Given the description of an element on the screen output the (x, y) to click on. 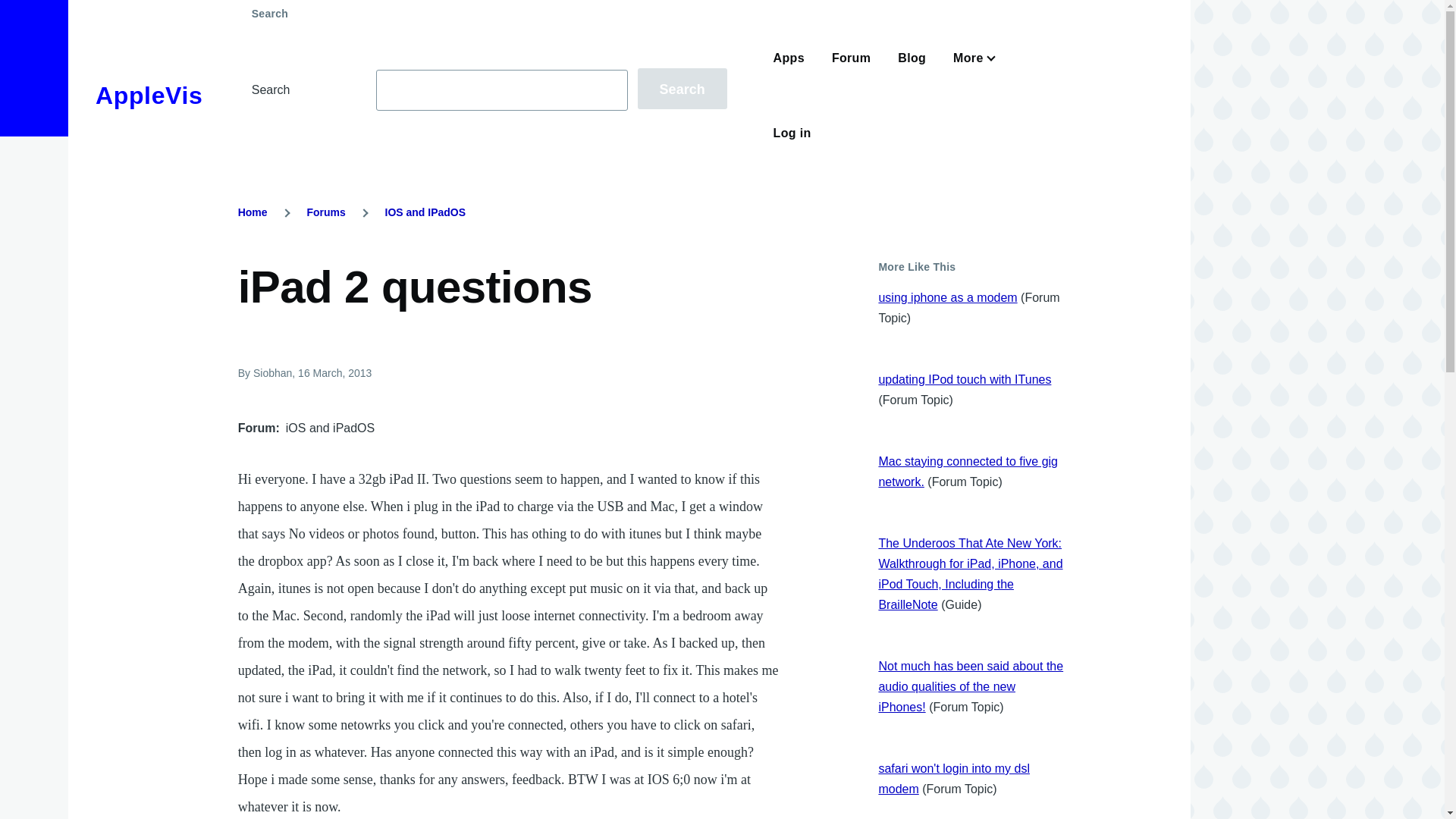
safari won't login into my dsl modem (953, 778)
Home (252, 212)
using iphone as a modem (946, 297)
Search (681, 87)
AppleVis (149, 94)
IOS and IPadOS (425, 212)
Home (149, 94)
Skip to main content (595, 6)
